Given the description of an element on the screen output the (x, y) to click on. 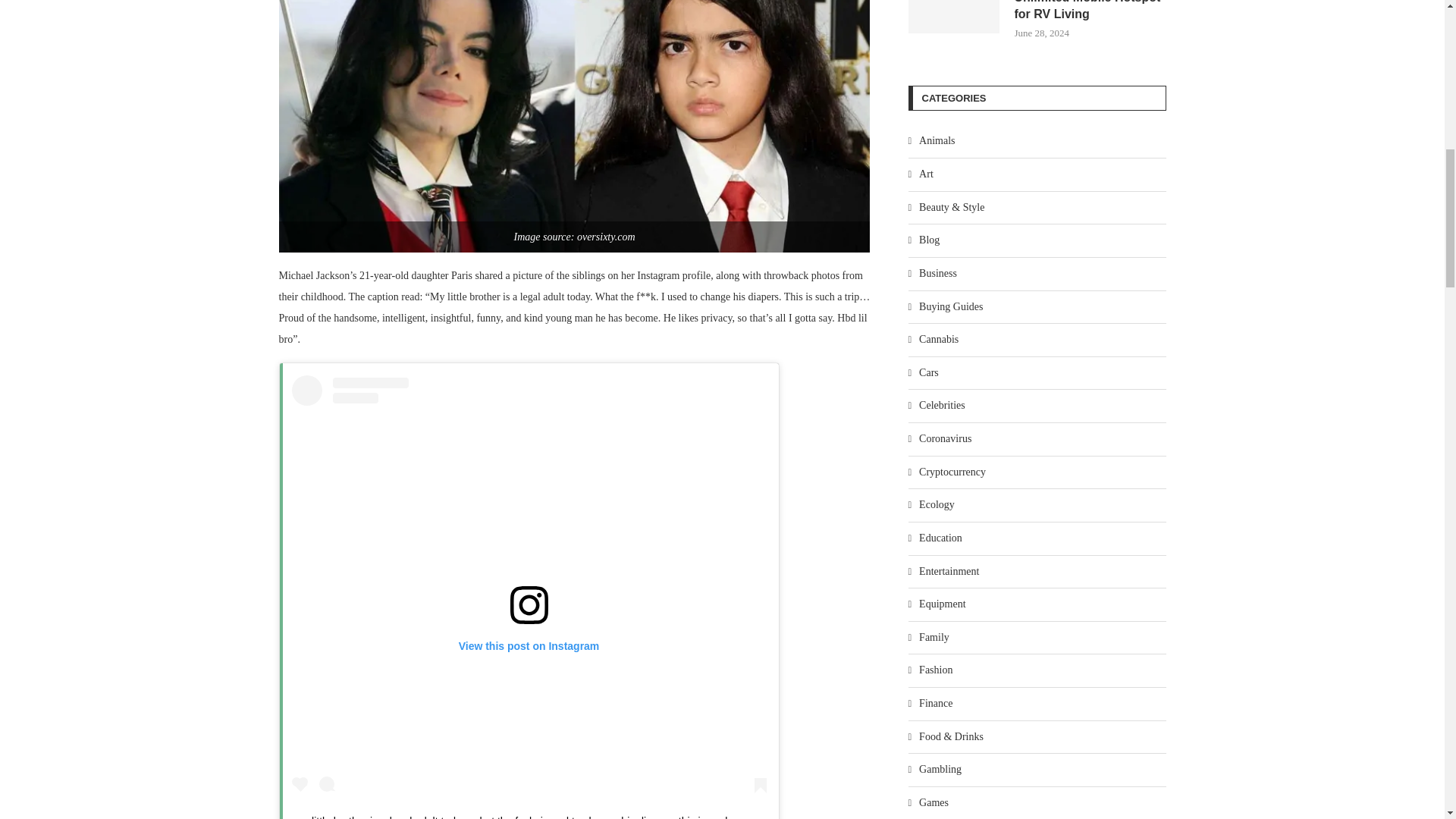
On the Road Again: Unlimited Mobile Hotspot for RV Living (953, 16)
On the Road Again: Unlimited Mobile Hotspot for RV Living (1090, 11)
